Given the description of an element on the screen output the (x, y) to click on. 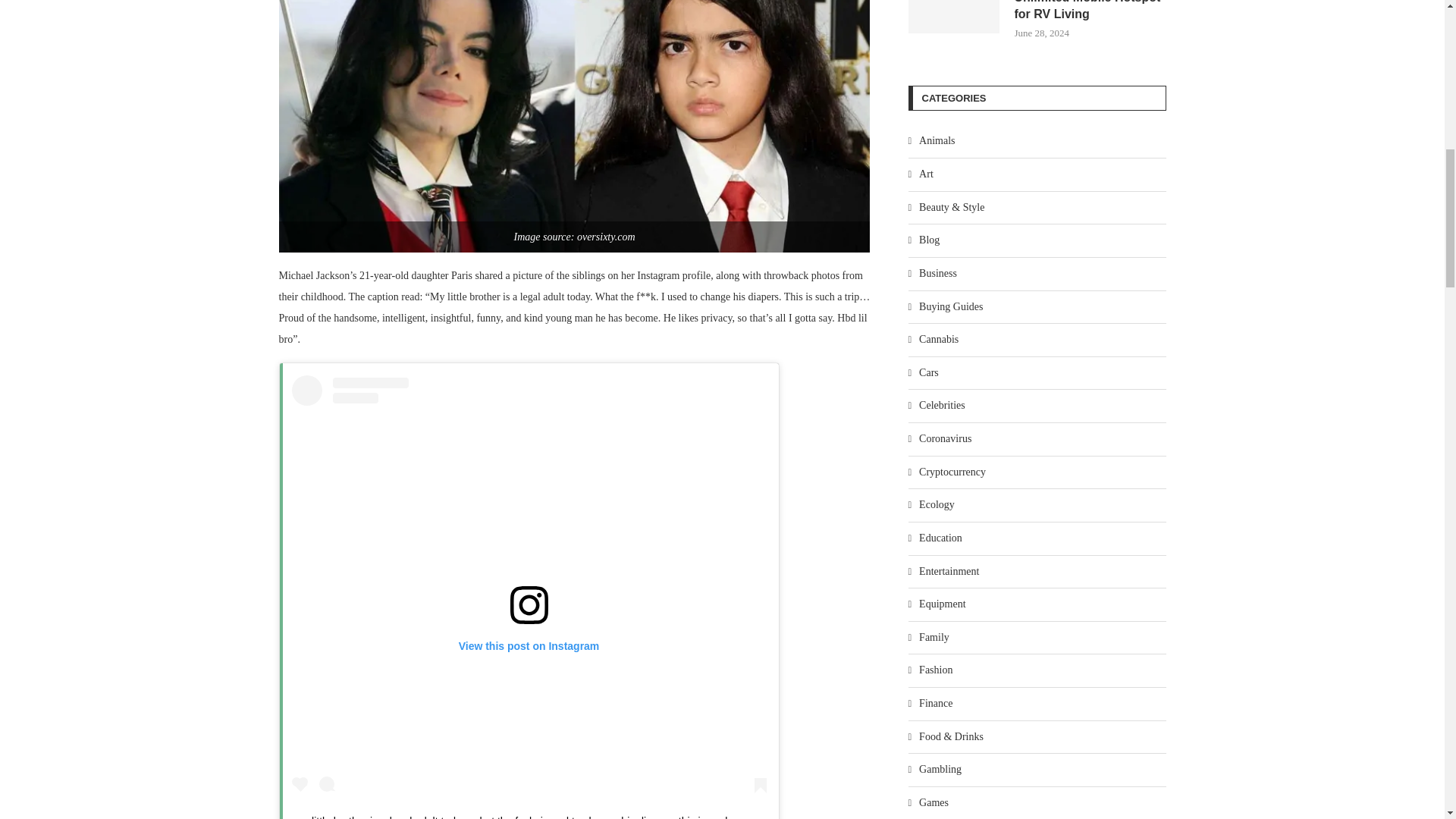
On the Road Again: Unlimited Mobile Hotspot for RV Living (953, 16)
On the Road Again: Unlimited Mobile Hotspot for RV Living (1090, 11)
